Given the description of an element on the screen output the (x, y) to click on. 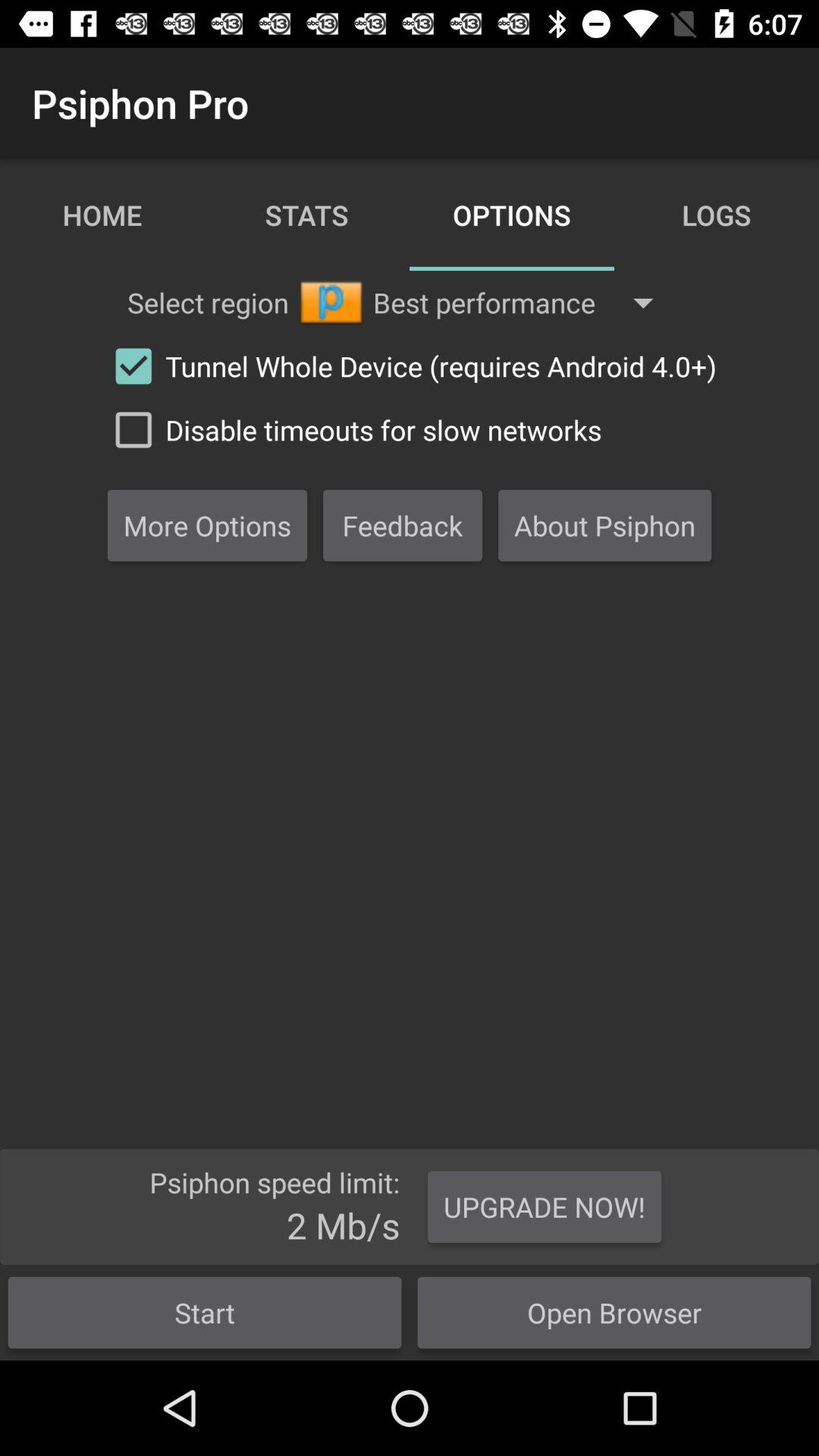
click on the third box from middle of the image (604, 525)
select the symbol left to best performance (331, 302)
click on the text below the tunnel whole devicesrequires android 40 (351, 429)
click on upgrade now (544, 1206)
select the text options (511, 214)
